Given the description of an element on the screen output the (x, y) to click on. 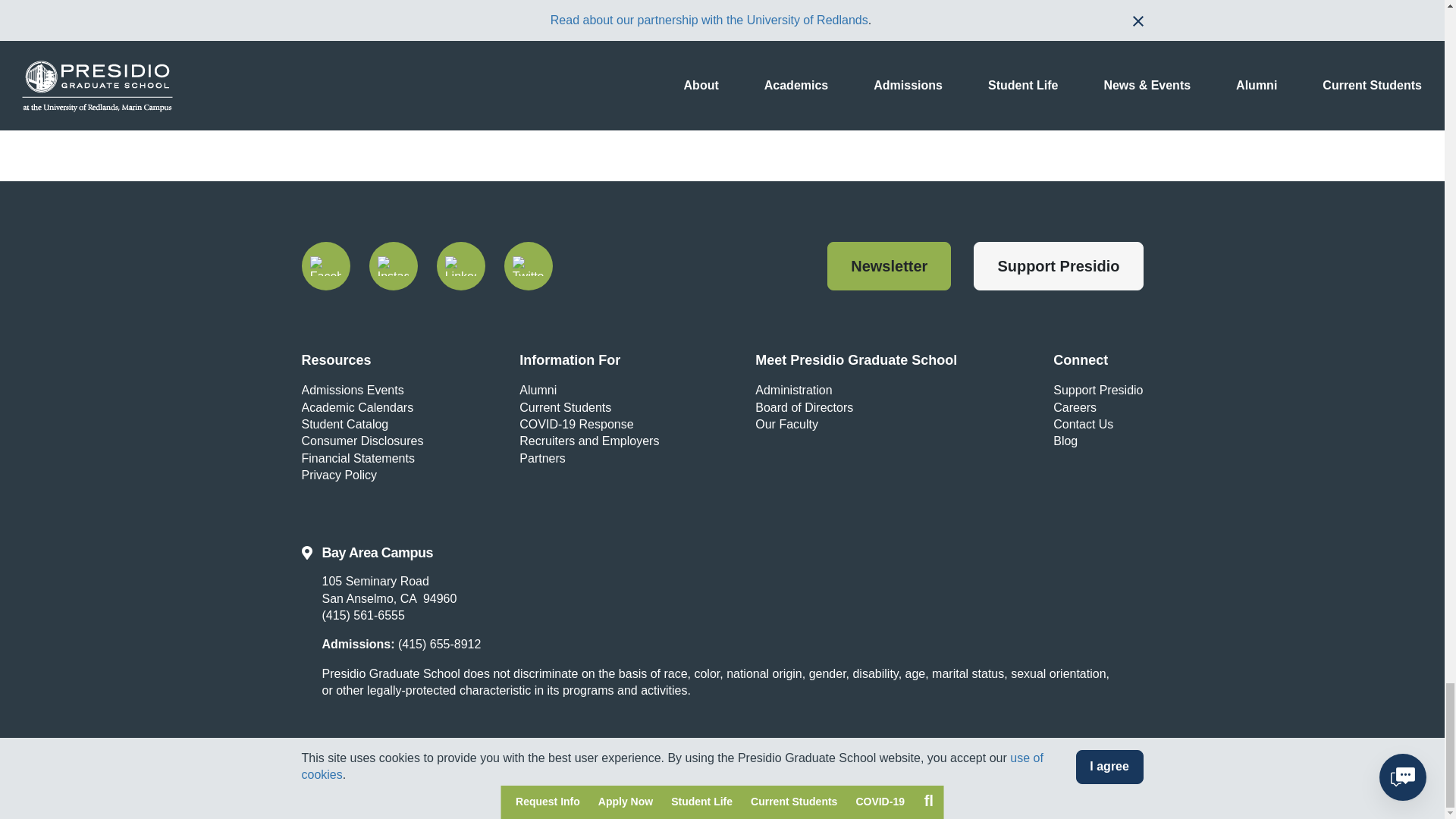
Follow us on LinkedIn (460, 265)
Like us on Facebook (325, 265)
Newsletter (888, 265)
Follow us on Twitter (527, 265)
Accessibility Statement (564, 790)
Support Presidio (1058, 265)
Follow us on Instagram (392, 265)
